Given the description of an element on the screen output the (x, y) to click on. 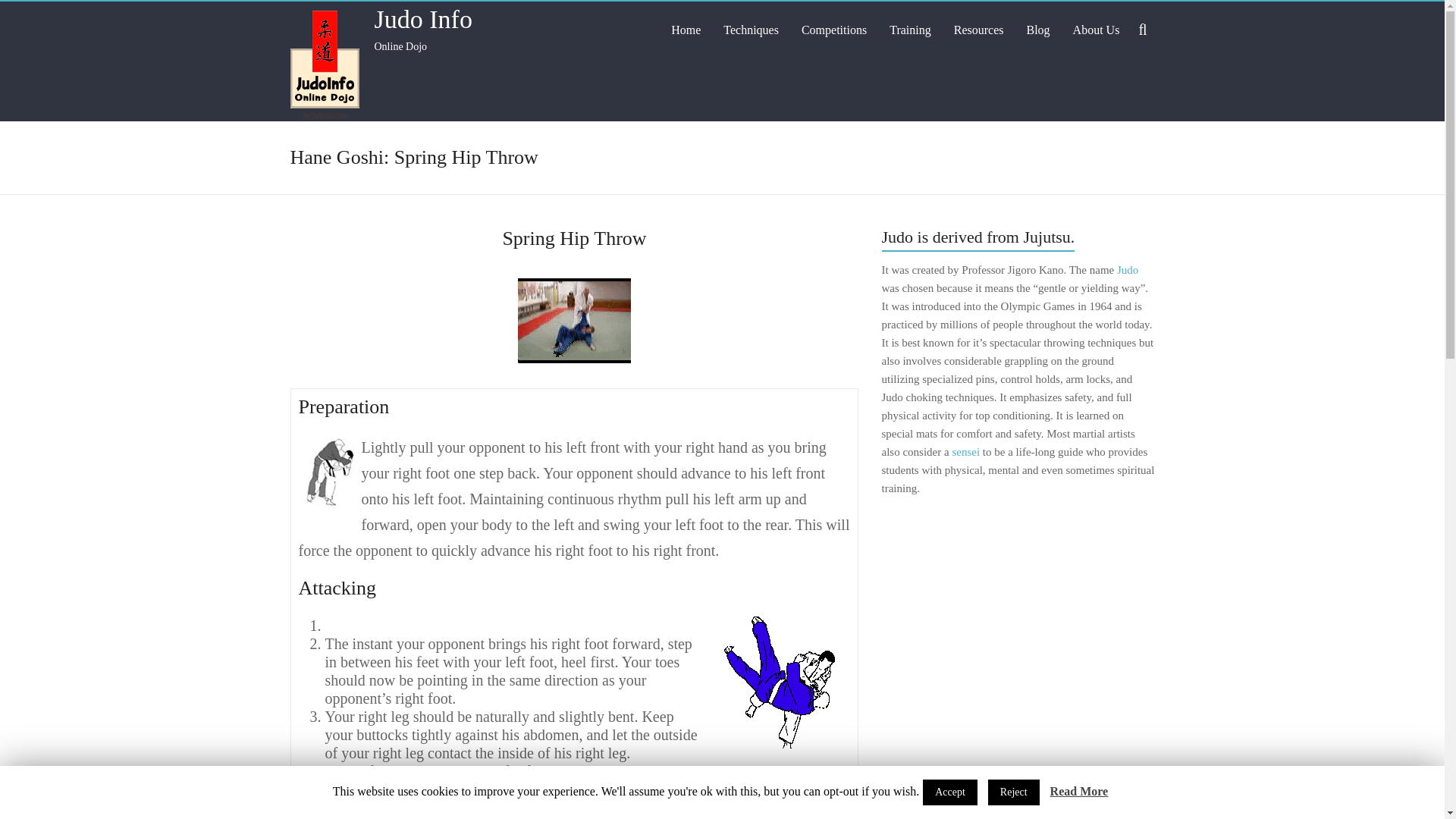
sensei (965, 451)
Reject (1013, 792)
Judo (1127, 269)
Judo Info (422, 18)
Judo Info (422, 18)
Techniques (750, 29)
Read More (1078, 791)
Competitions (834, 29)
Accept (949, 792)
